Given the description of an element on the screen output the (x, y) to click on. 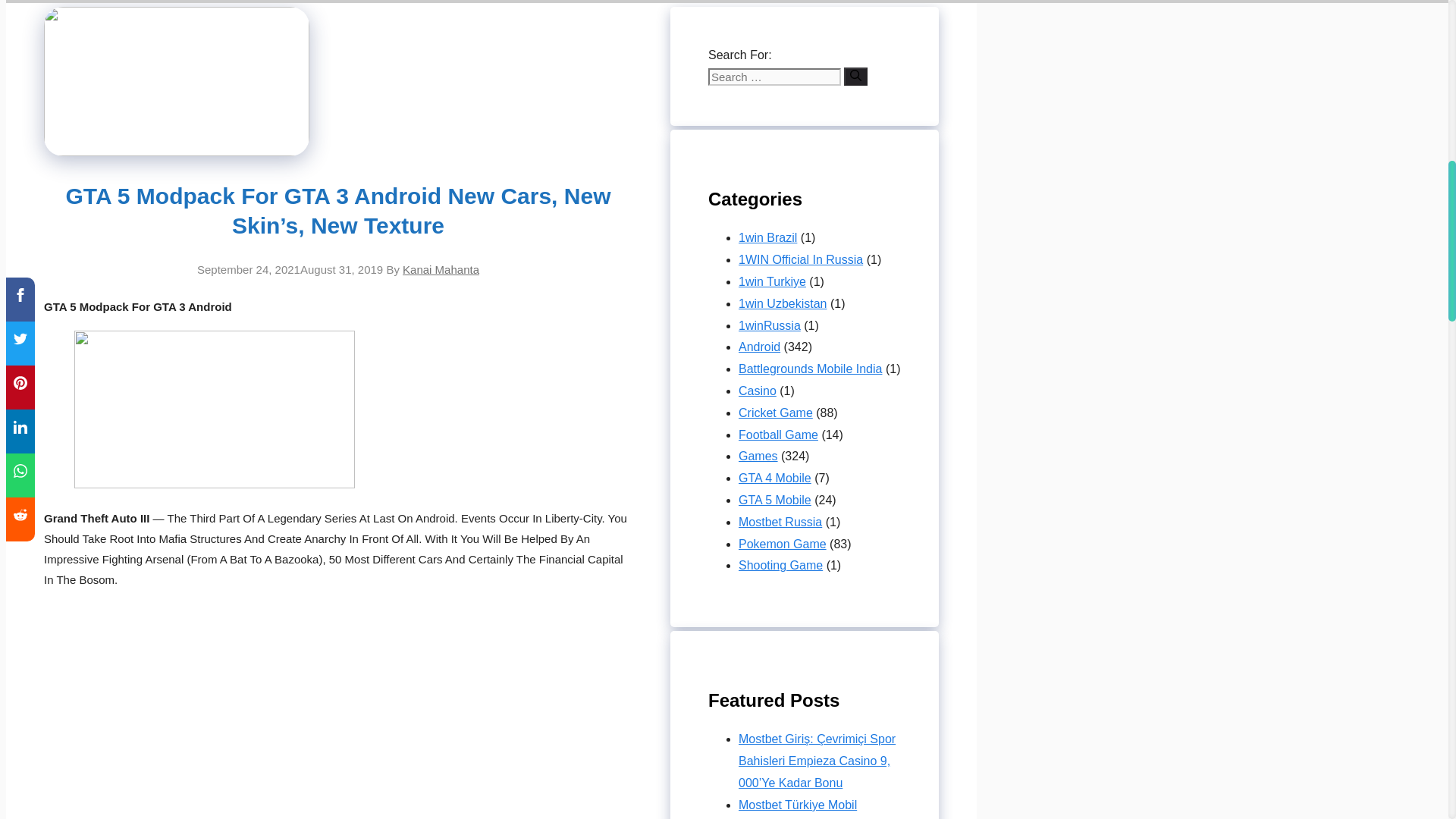
Search for: (774, 76)
Kanai Mahanta (441, 269)
View all posts by Kanai Mahanta (441, 269)
